Given the description of an element on the screen output the (x, y) to click on. 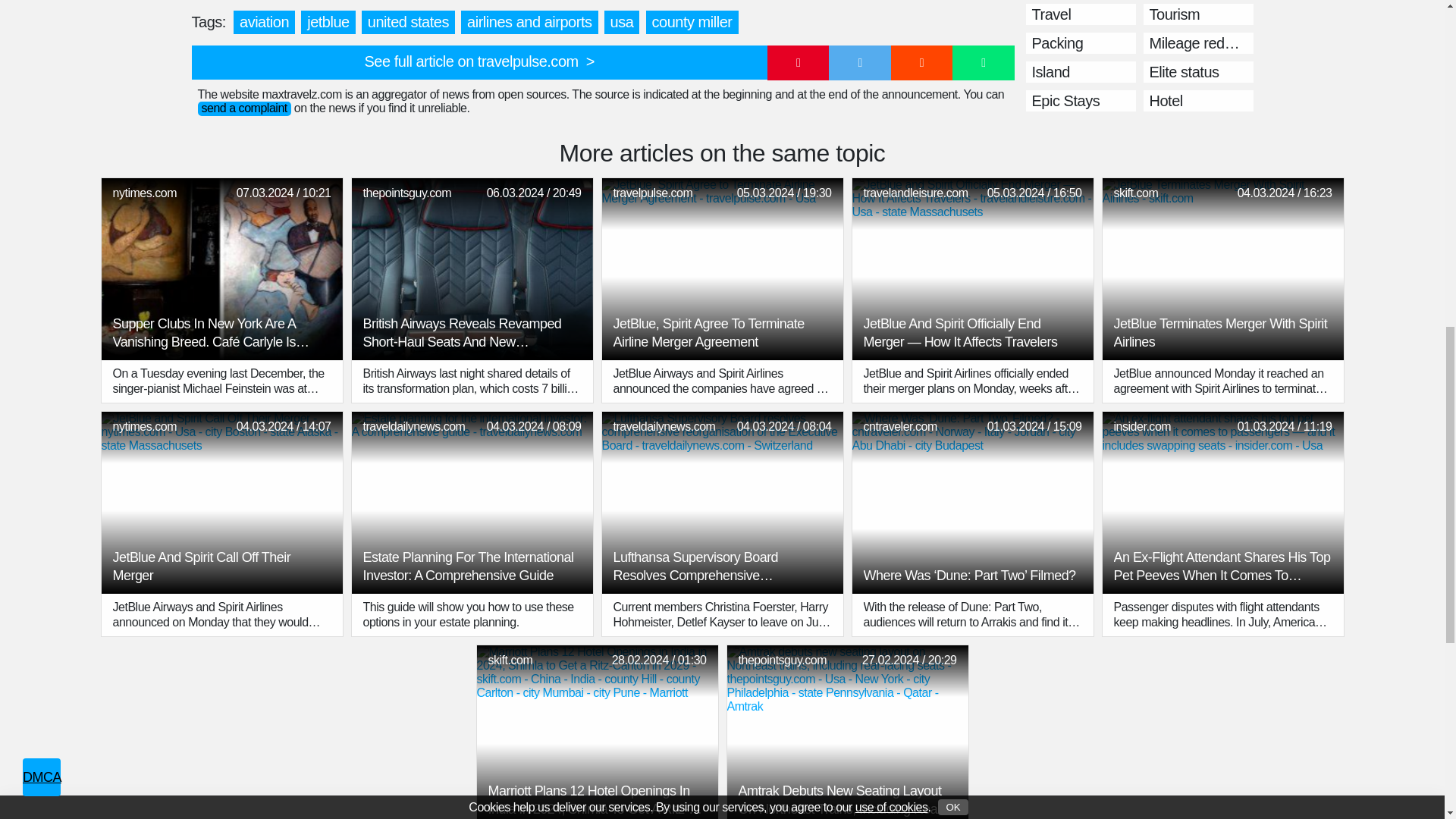
airlines and airports (528, 22)
united states (407, 22)
usa (622, 22)
jetblue (328, 22)
aviation (263, 22)
